Given the description of an element on the screen output the (x, y) to click on. 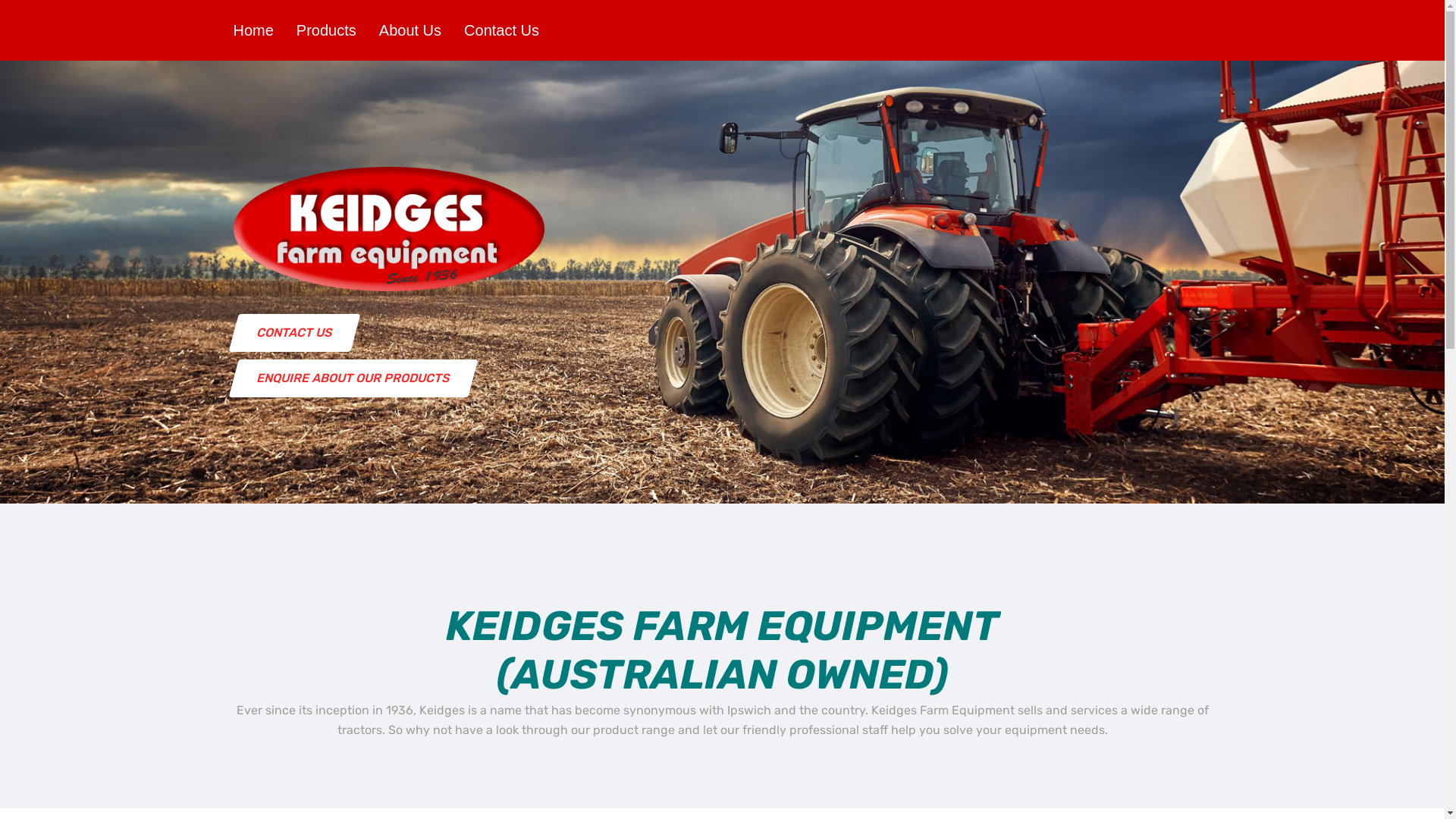
About Us Element type: text (409, 30)
Home Element type: text (252, 30)
Contact Us Element type: text (501, 30)
ENQUIRE ABOUT OUR PRODUCTS Element type: text (347, 378)
Products Element type: text (326, 30)
CONTACT US Element type: text (289, 332)
